Given the description of an element on the screen output the (x, y) to click on. 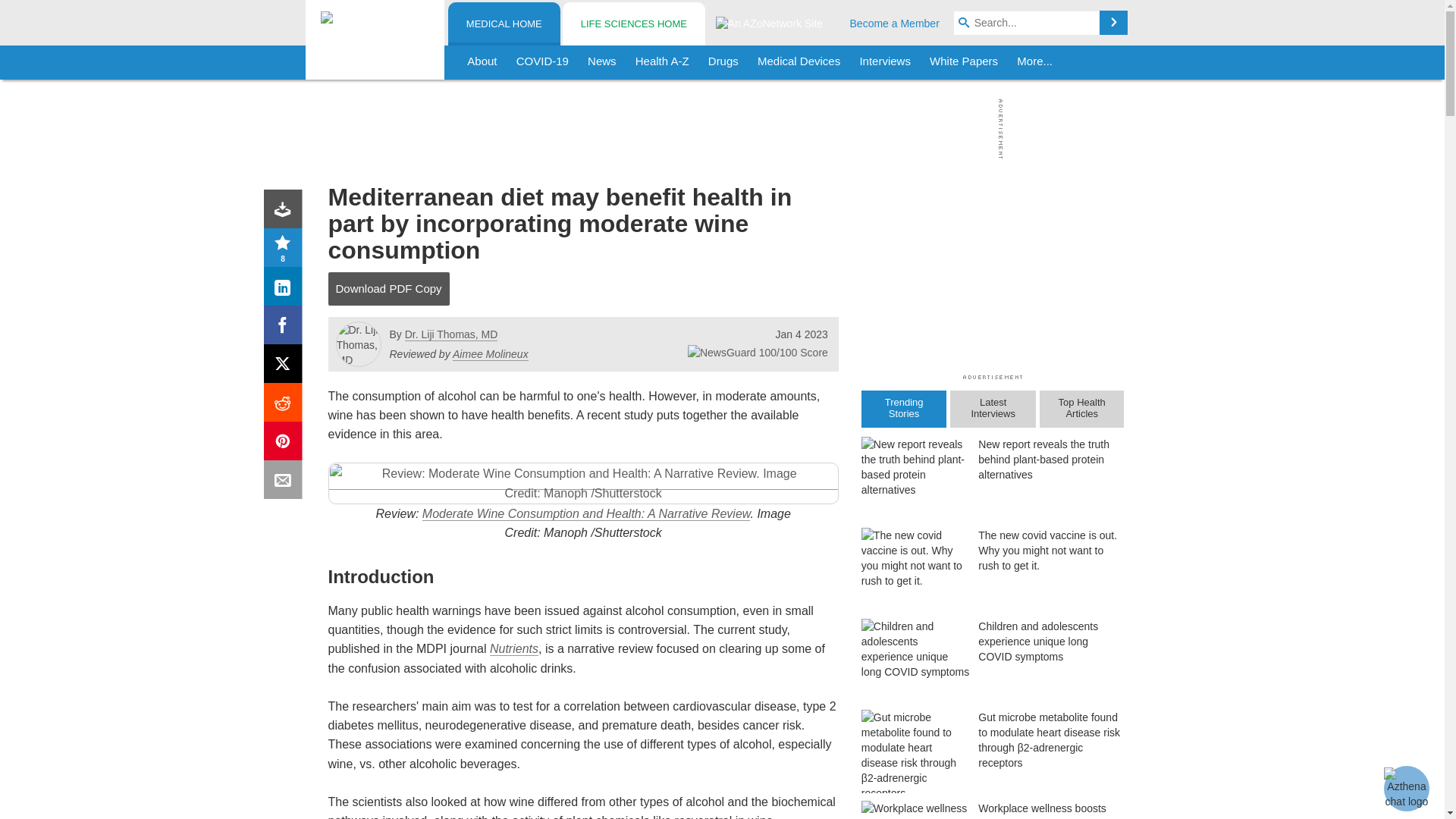
White Papers (963, 62)
COVID-19 (542, 62)
Drugs (722, 62)
LIFE SCIENCES HOME (633, 23)
Medical Devices (798, 62)
More... (1035, 62)
Interviews (884, 62)
Rating (285, 250)
Facebook (285, 328)
Health A-Z (662, 62)
